Given the description of an element on the screen output the (x, y) to click on. 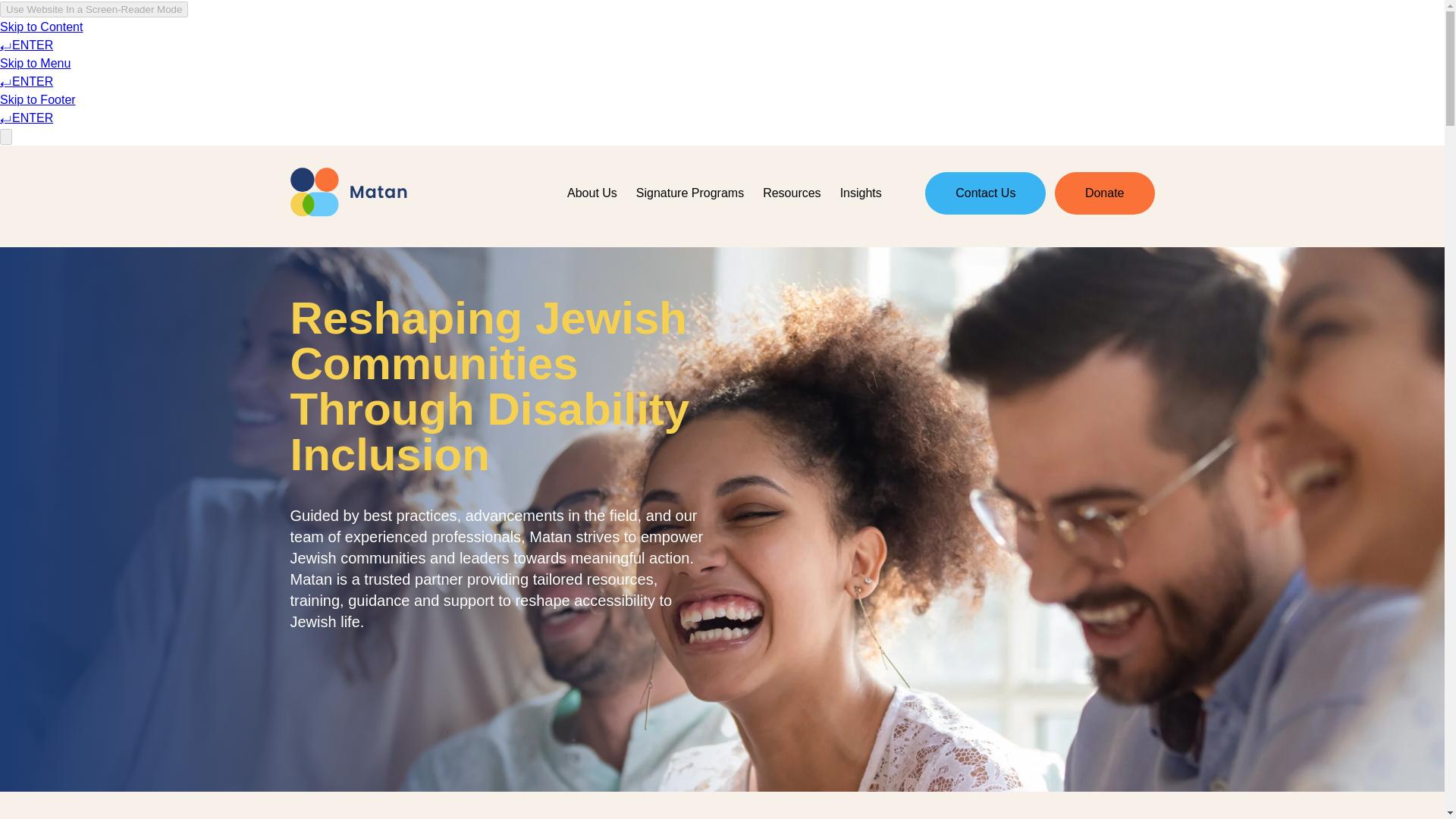
Signature Programs (689, 193)
Resources (791, 193)
Contact Us (984, 192)
About Us (592, 193)
Insights (860, 193)
Matan (347, 192)
Donate (1104, 192)
